Given the description of an element on the screen output the (x, y) to click on. 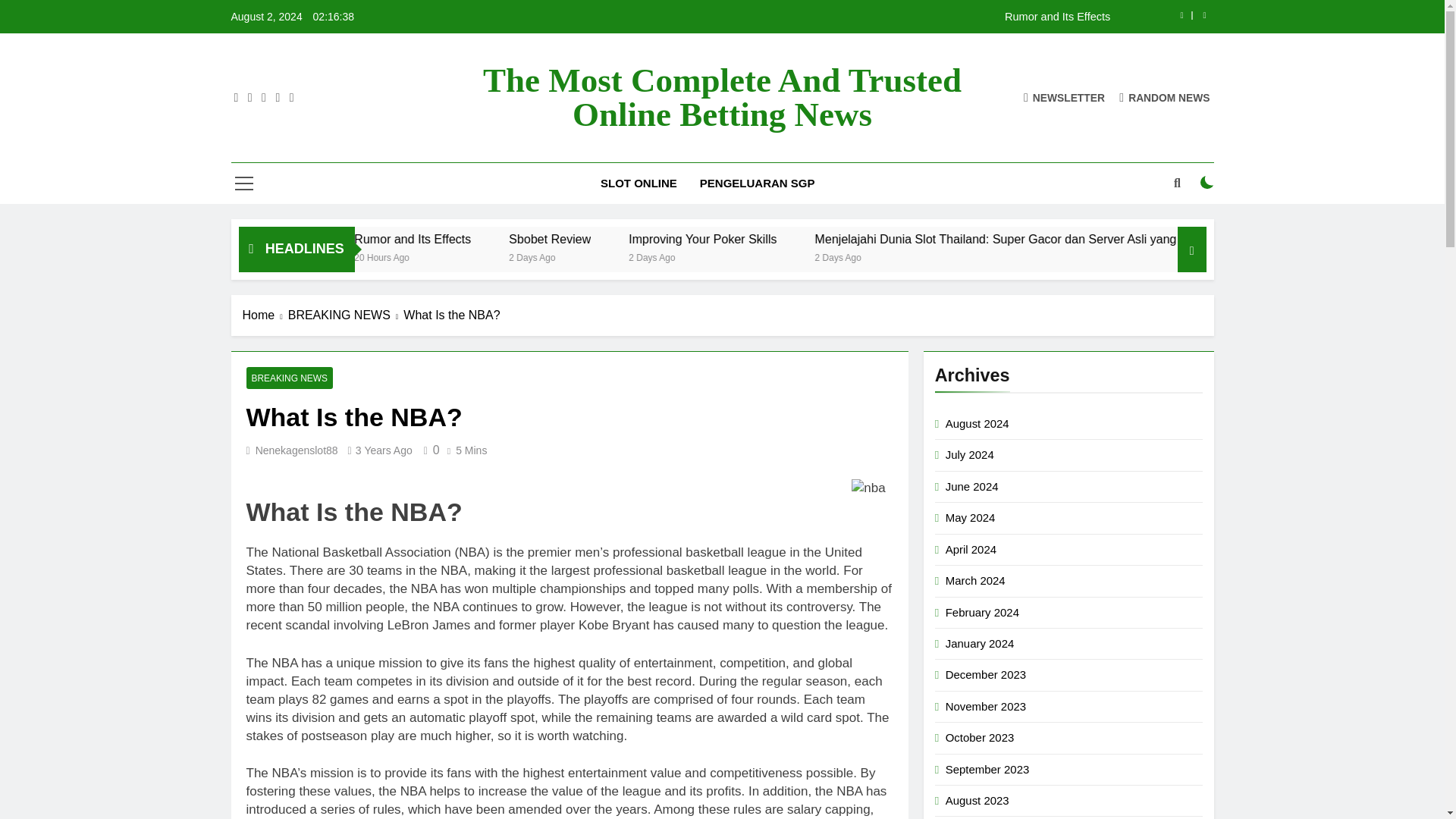
20 Hours Ago (520, 256)
What is the Lottery? (376, 238)
Sbobet Review (660, 238)
The Most Complete And Trusted Online Betting News (721, 97)
Improving Your Poker Skills (836, 238)
What is the Lottery? (406, 238)
2 Days Ago (785, 256)
on (1206, 182)
NEWSLETTER (1064, 97)
Rumor and Its Effects (553, 238)
Rumor and Its Effects (817, 16)
RANDOM NEWS (1164, 97)
11 Hours Ago (378, 256)
2 Days Ago (967, 256)
